Given the description of an element on the screen output the (x, y) to click on. 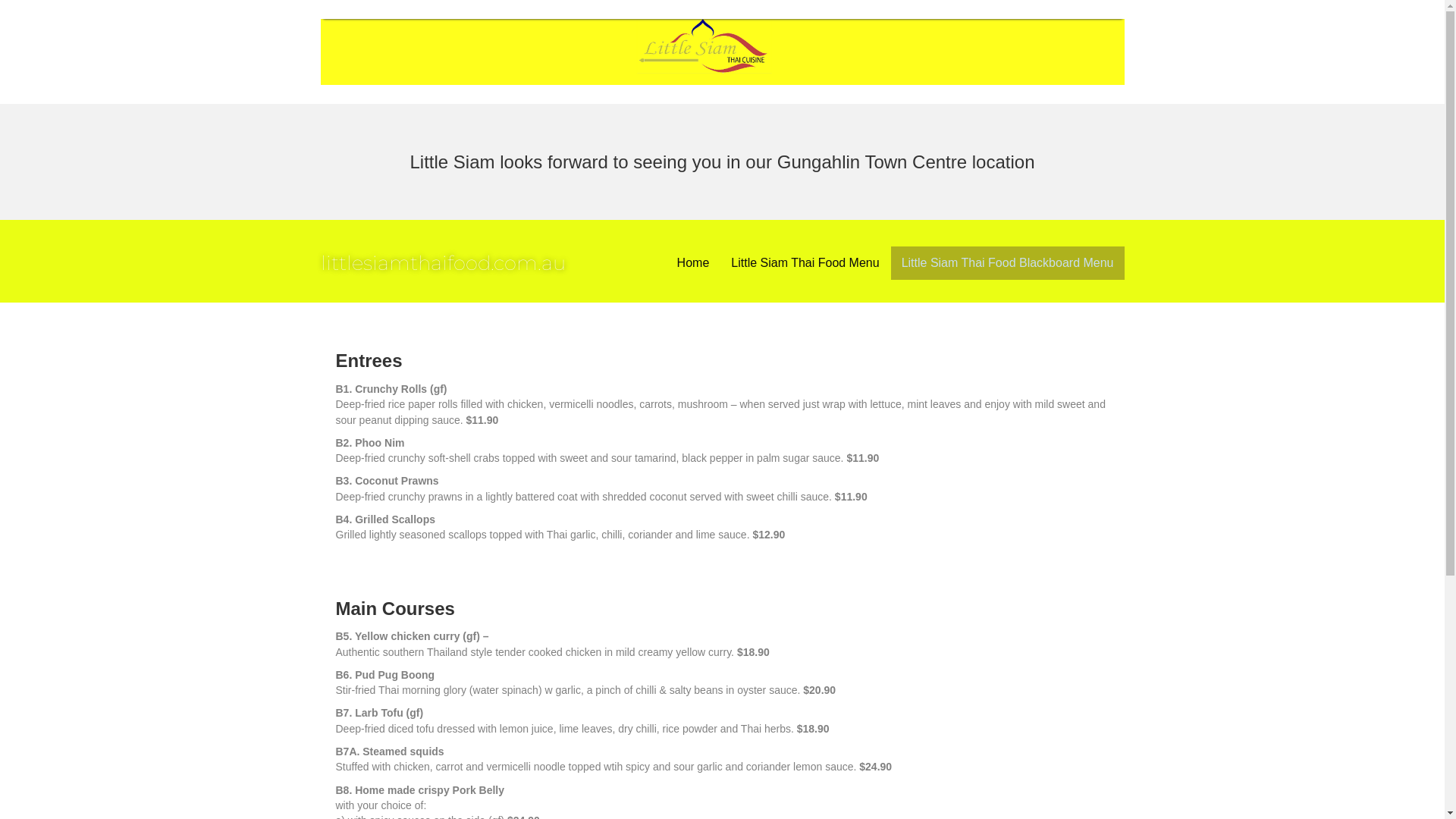
Little Siam Thai Food Blackboard Menu Element type: text (1007, 262)
littlesiam-header-wide Element type: hover (721, 51)
littlesiamthaifood.com.au Element type: text (442, 263)
Home Element type: text (693, 262)
Little Siam Thai Food Menu Element type: text (804, 262)
